Given the description of an element on the screen output the (x, y) to click on. 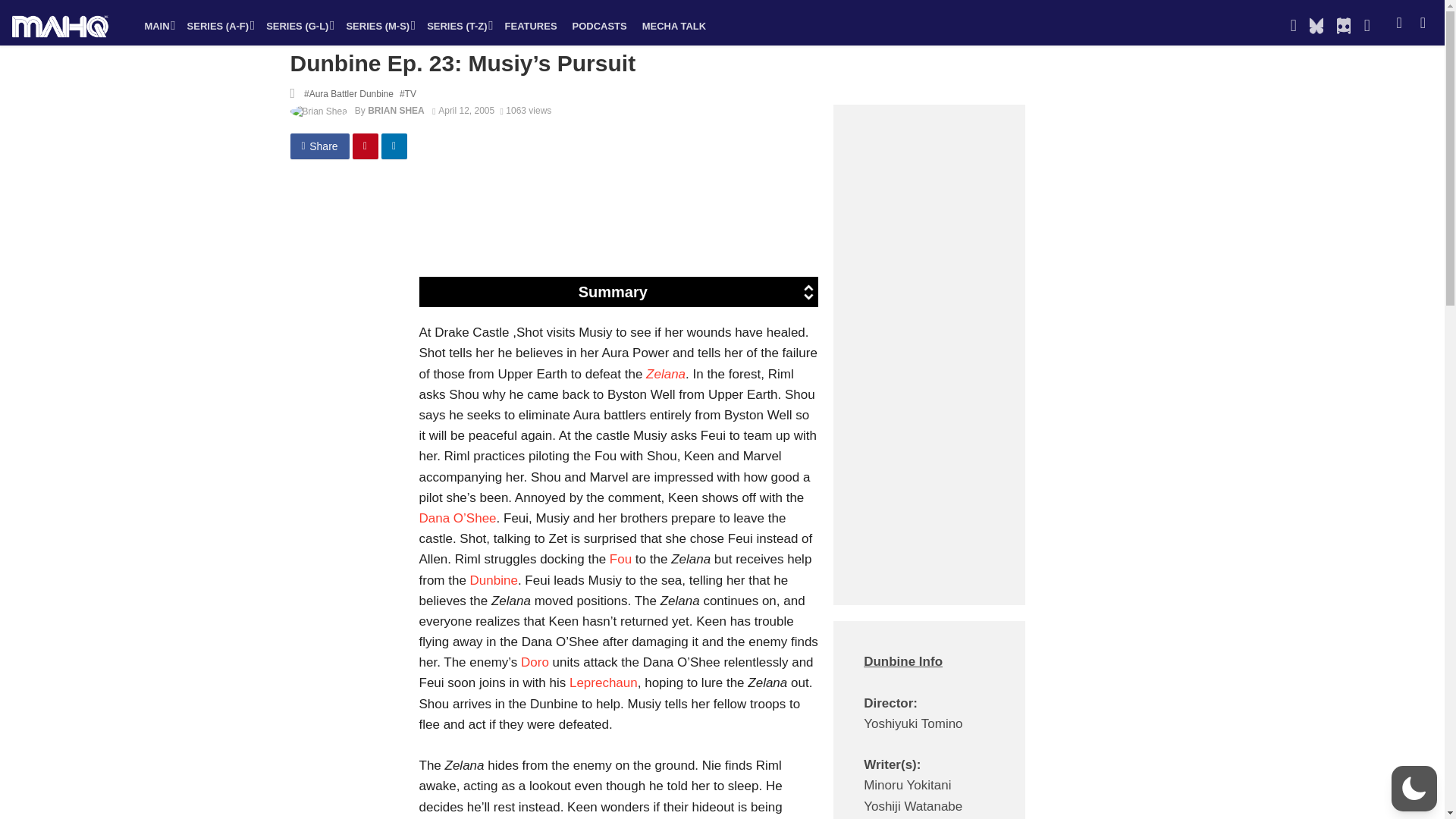
Share on Pinterest (365, 145)
Posts by Brian Shea (396, 110)
MAIN (157, 26)
Share on Facebook (319, 145)
Advertisement (686, 223)
Share on Linkedin (394, 145)
April 12, 2005 at 6:34 pm (463, 110)
